Given the description of an element on the screen output the (x, y) to click on. 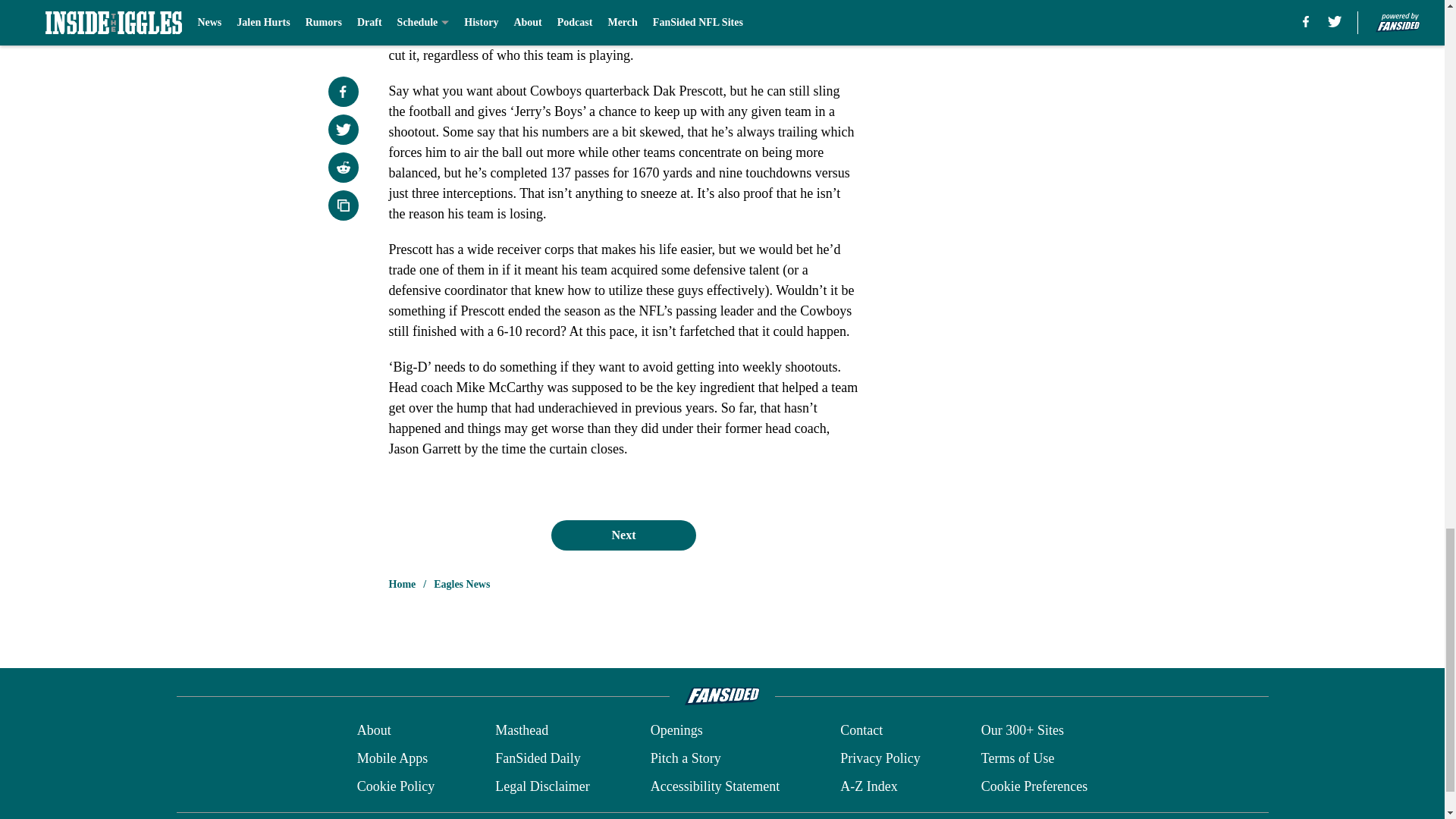
Cookie Policy (395, 786)
FanSided Daily (537, 758)
Pitch a Story (685, 758)
Eagles News (461, 584)
Privacy Policy (880, 758)
Home (401, 584)
Terms of Use (1017, 758)
Mobile Apps (392, 758)
Contact (861, 730)
About (373, 730)
Legal Disclaimer (542, 786)
Masthead (521, 730)
Next (622, 535)
Openings (676, 730)
